Given the description of an element on the screen output the (x, y) to click on. 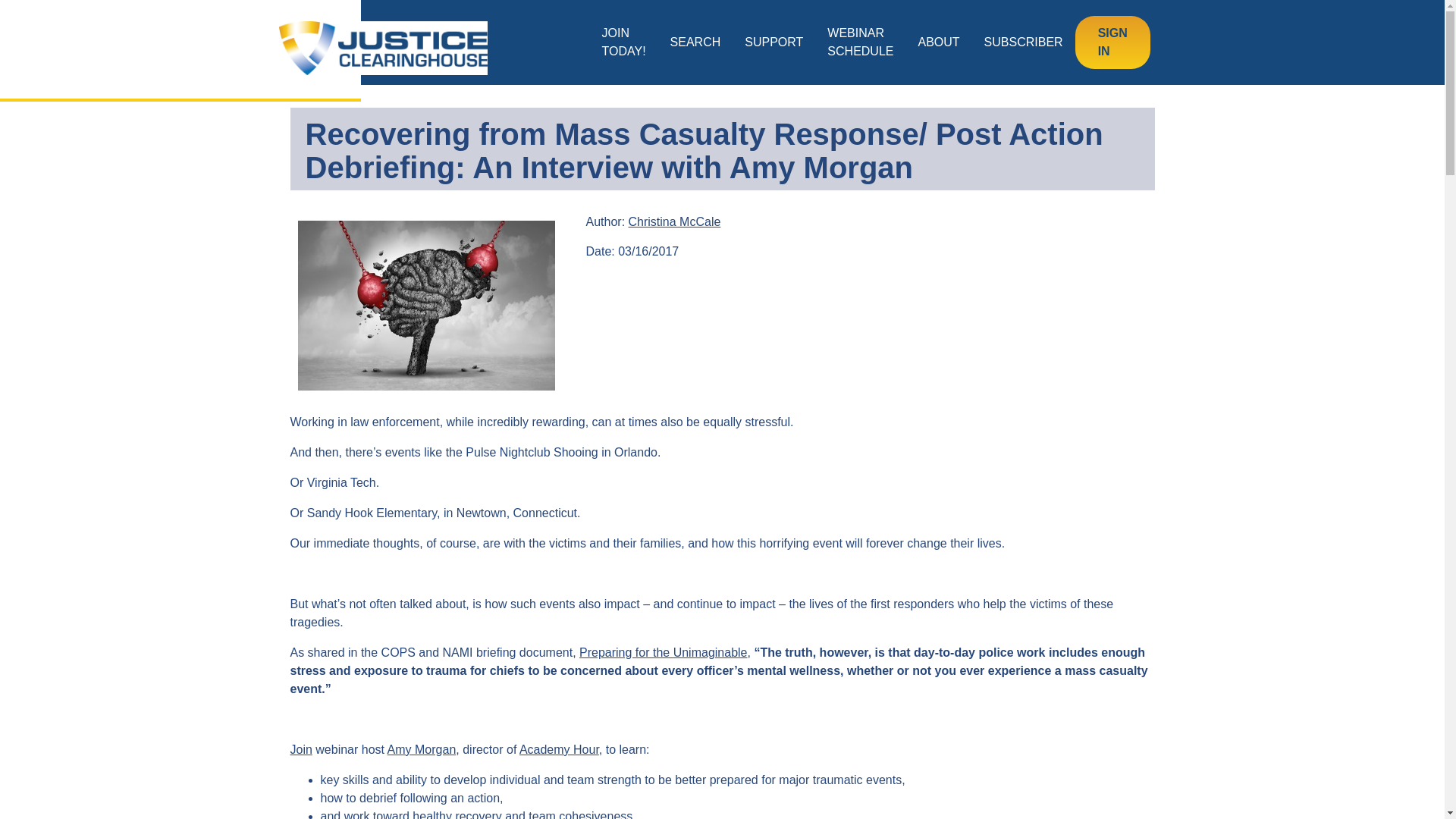
SIGN IN (1112, 41)
Academy Hour (558, 748)
JOIN TODAY! (623, 42)
Support (773, 42)
SUBSCRIBER (1023, 42)
Christina McCale (674, 221)
Subscriber (1023, 42)
Join (300, 748)
ABOUT (938, 42)
SEARCH (695, 42)
